Given the description of an element on the screen output the (x, y) to click on. 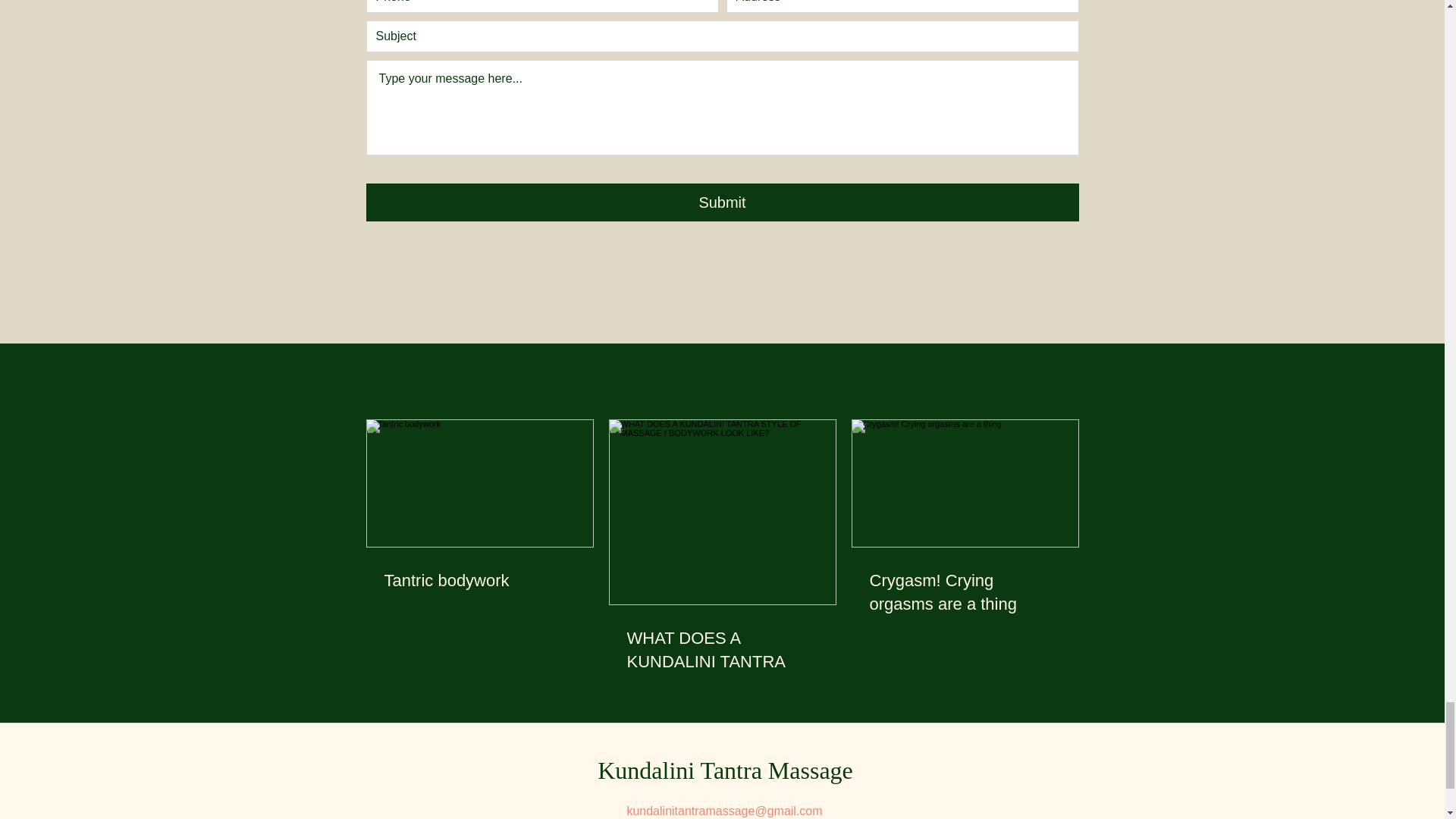
Submit (721, 202)
Tantric bodywork (479, 580)
Crygasm! Crying orgasms are a thing (964, 592)
